Given the description of an element on the screen output the (x, y) to click on. 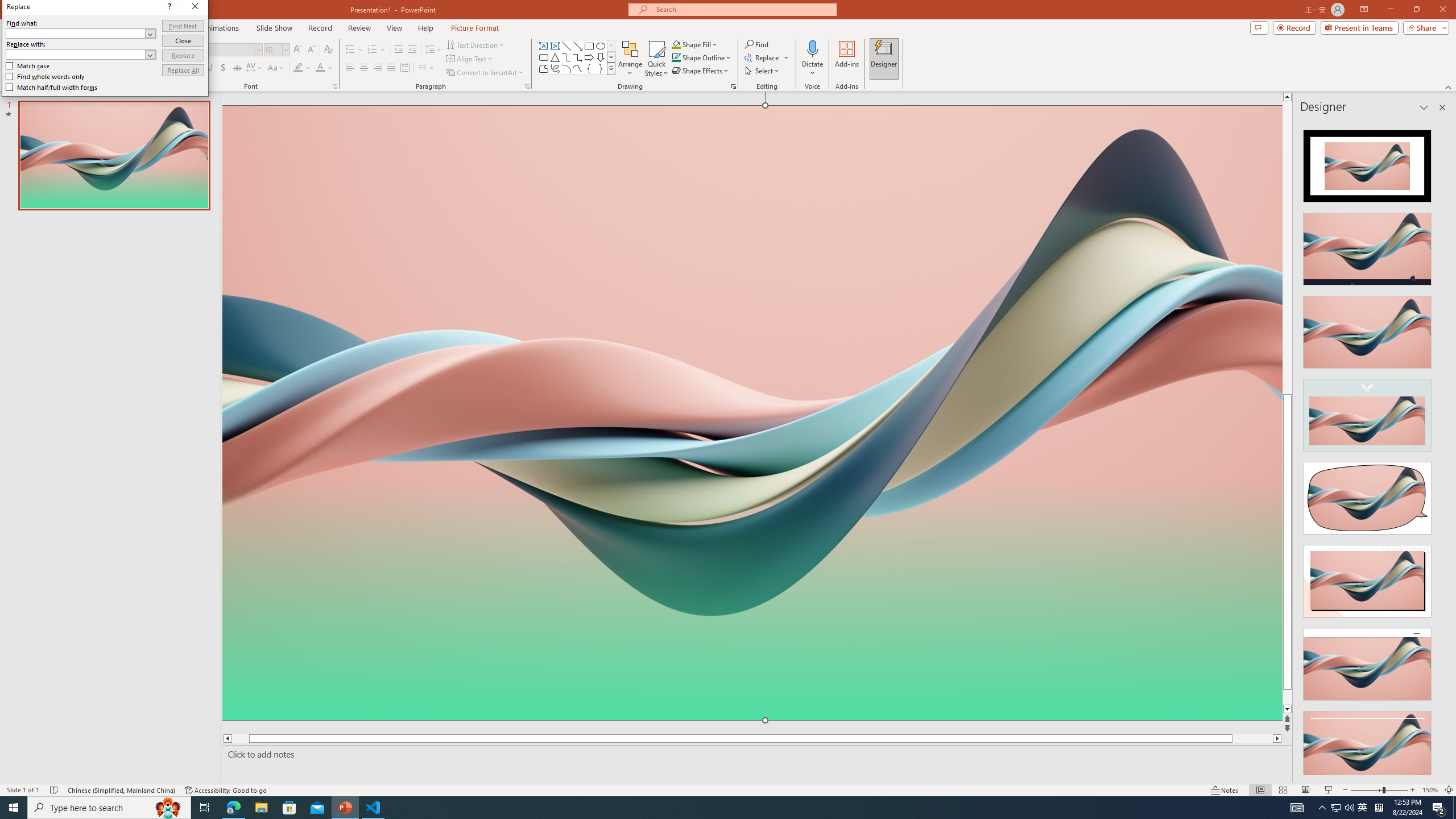
Find Next (372, 158)
Accessibility Checker Accessibility: Good to go (226, 790)
Match half/full width forms (245, 222)
Find whole words only (241, 213)
